Given the description of an element on the screen output the (x, y) to click on. 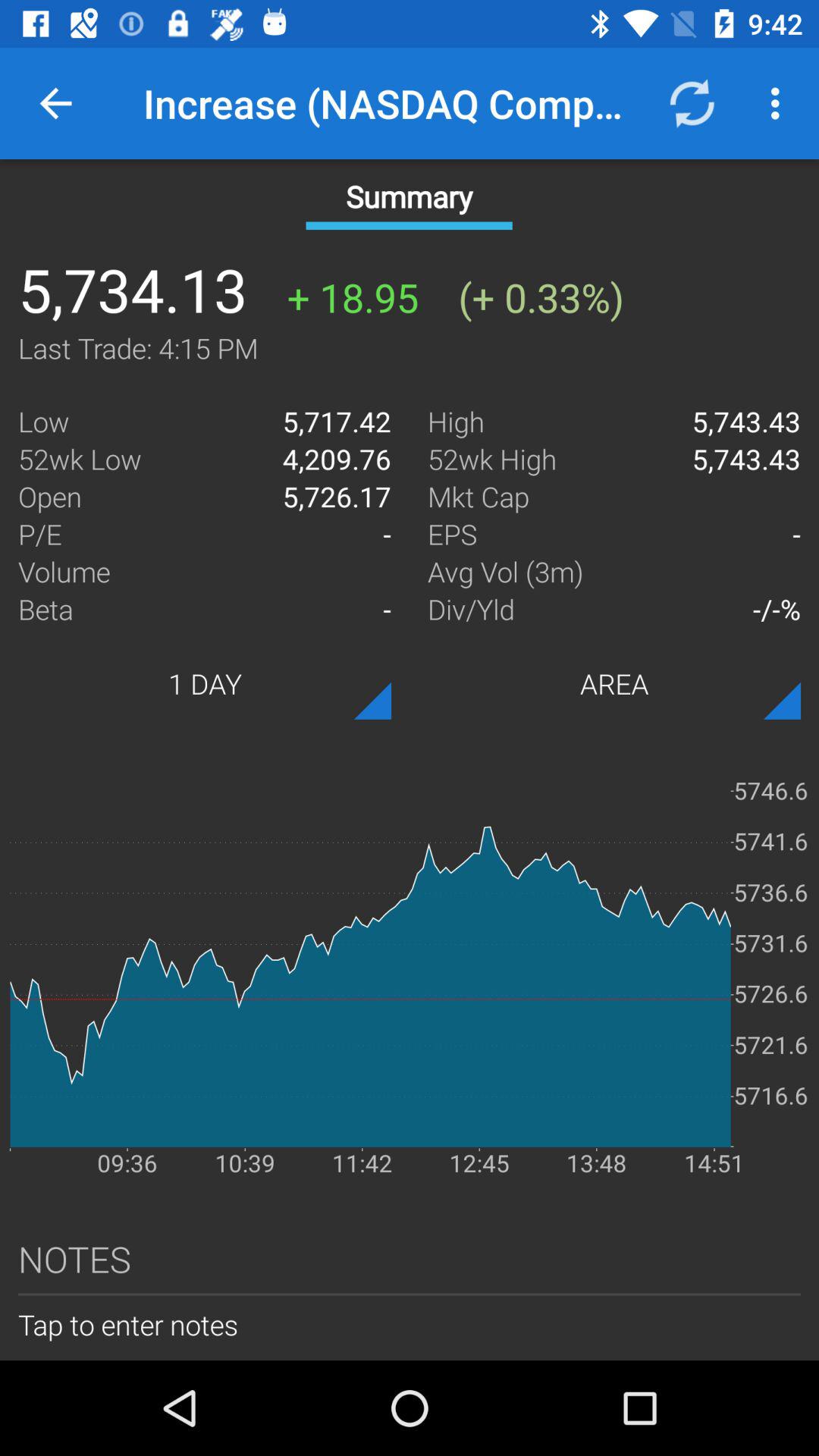
select area icon (613, 683)
